Given the description of an element on the screen output the (x, y) to click on. 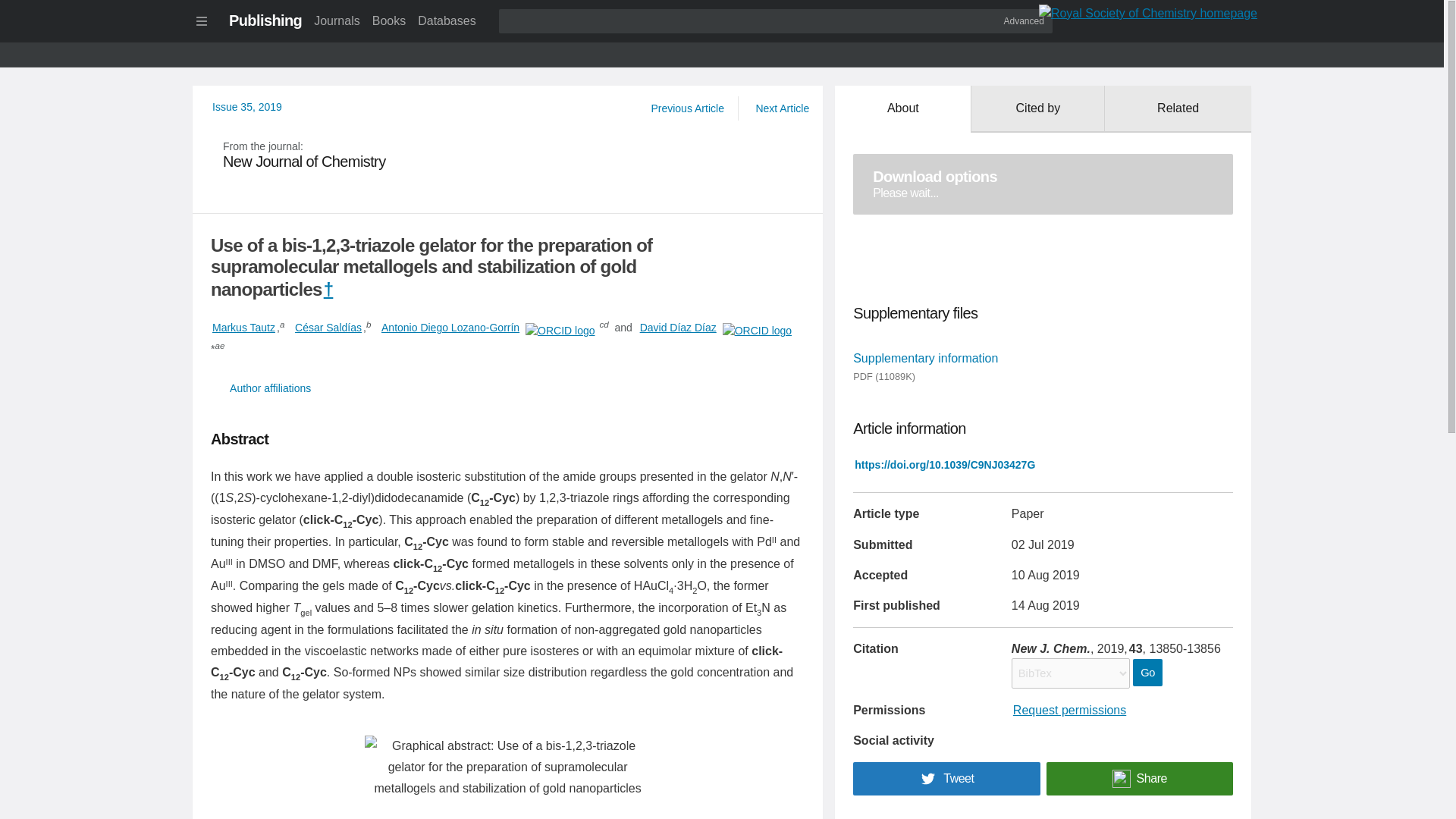
Go (1146, 672)
Go (1146, 672)
Link to landing page via DOI (944, 464)
Request permissions (1068, 709)
Publishing (1043, 183)
Issue 35, 2019 (264, 20)
Books (247, 106)
About (389, 20)
Issue 35, 2019 (902, 108)
Markus Tautz (508, 155)
Next Article (247, 106)
Previous Article (243, 327)
Author affiliations (781, 107)
